Given the description of an element on the screen output the (x, y) to click on. 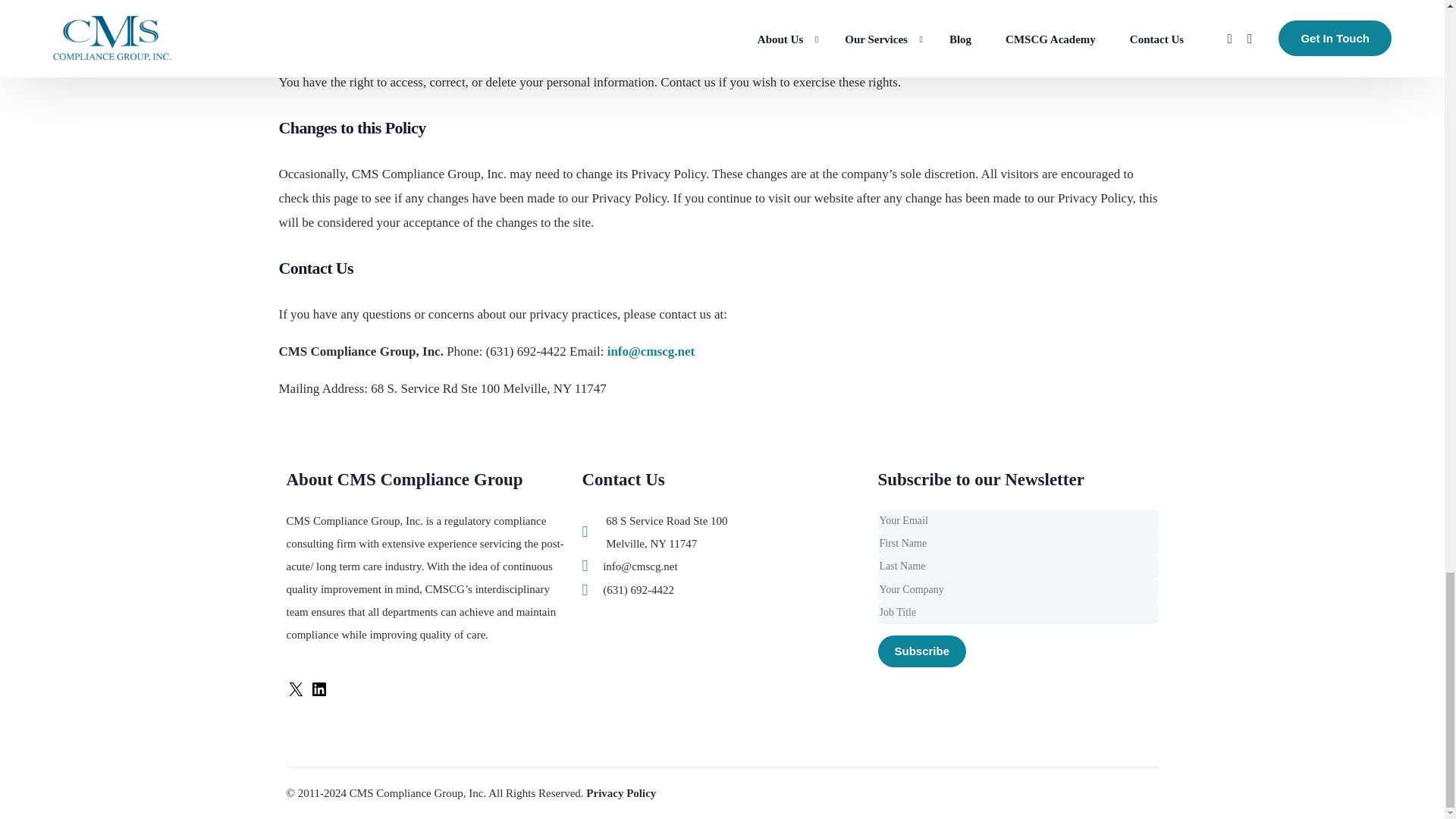
Privacy Policy (621, 793)
Subscribe (921, 651)
Subscribe (921, 651)
